Given the description of an element on the screen output the (x, y) to click on. 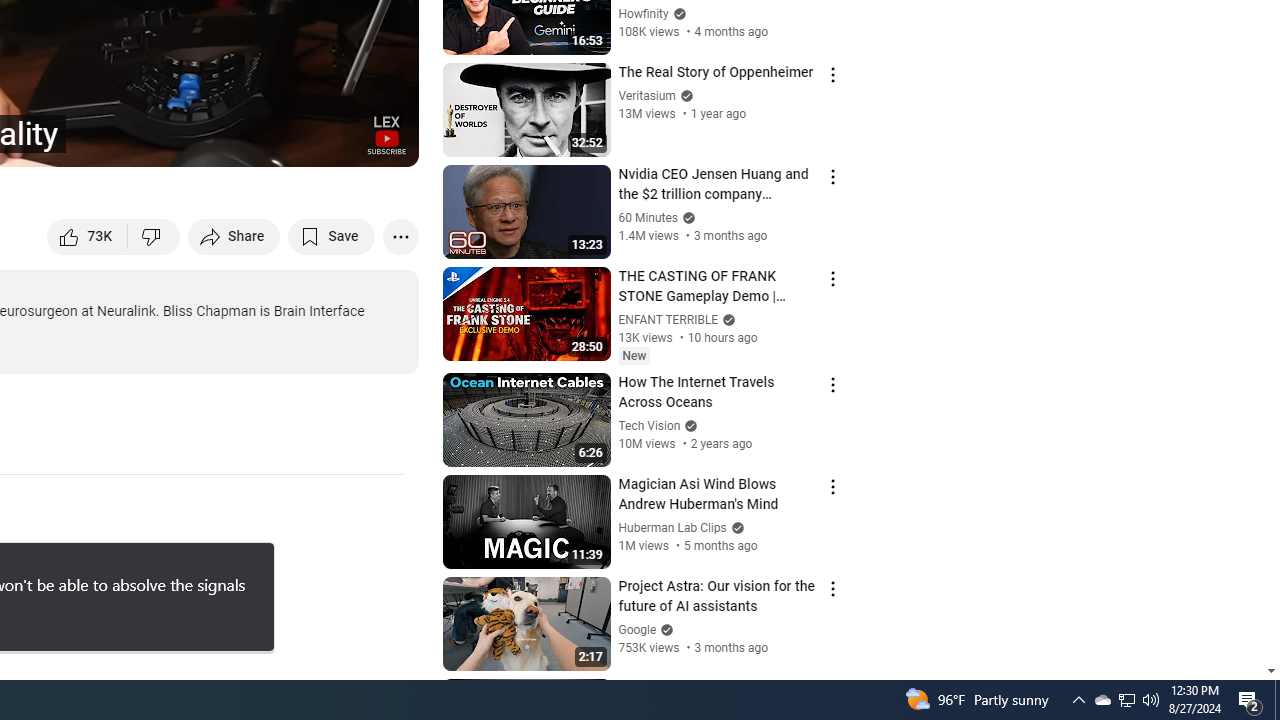
Share (234, 236)
Channel watermark (386, 134)
More actions (399, 236)
New (634, 356)
Subtitles/closed captions unavailable (190, 142)
Dislike this video (154, 236)
Autoplay is on (141, 142)
Verified (664, 629)
Miniplayer (i) (286, 142)
Theater mode (t) (333, 142)
